Given the description of an element on the screen output the (x, y) to click on. 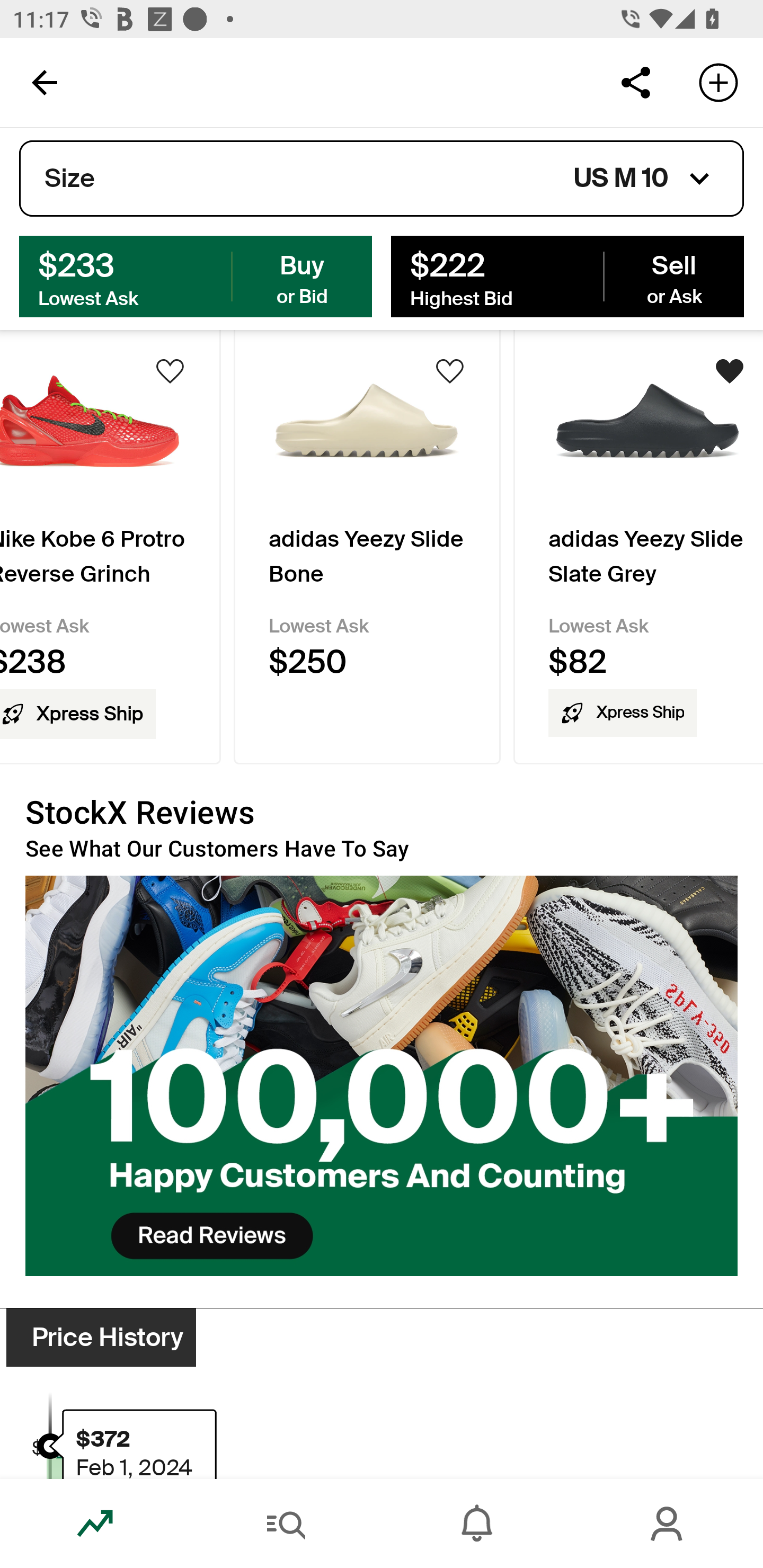
Share (635, 81)
Add (718, 81)
Size US M 10 (381, 178)
$233 Buy Lowest Ask or Bid (195, 275)
$222 Sell Highest Bid or Ask (566, 275)
Search (285, 1523)
Inbox (476, 1523)
Account (667, 1523)
